Given the description of an element on the screen output the (x, y) to click on. 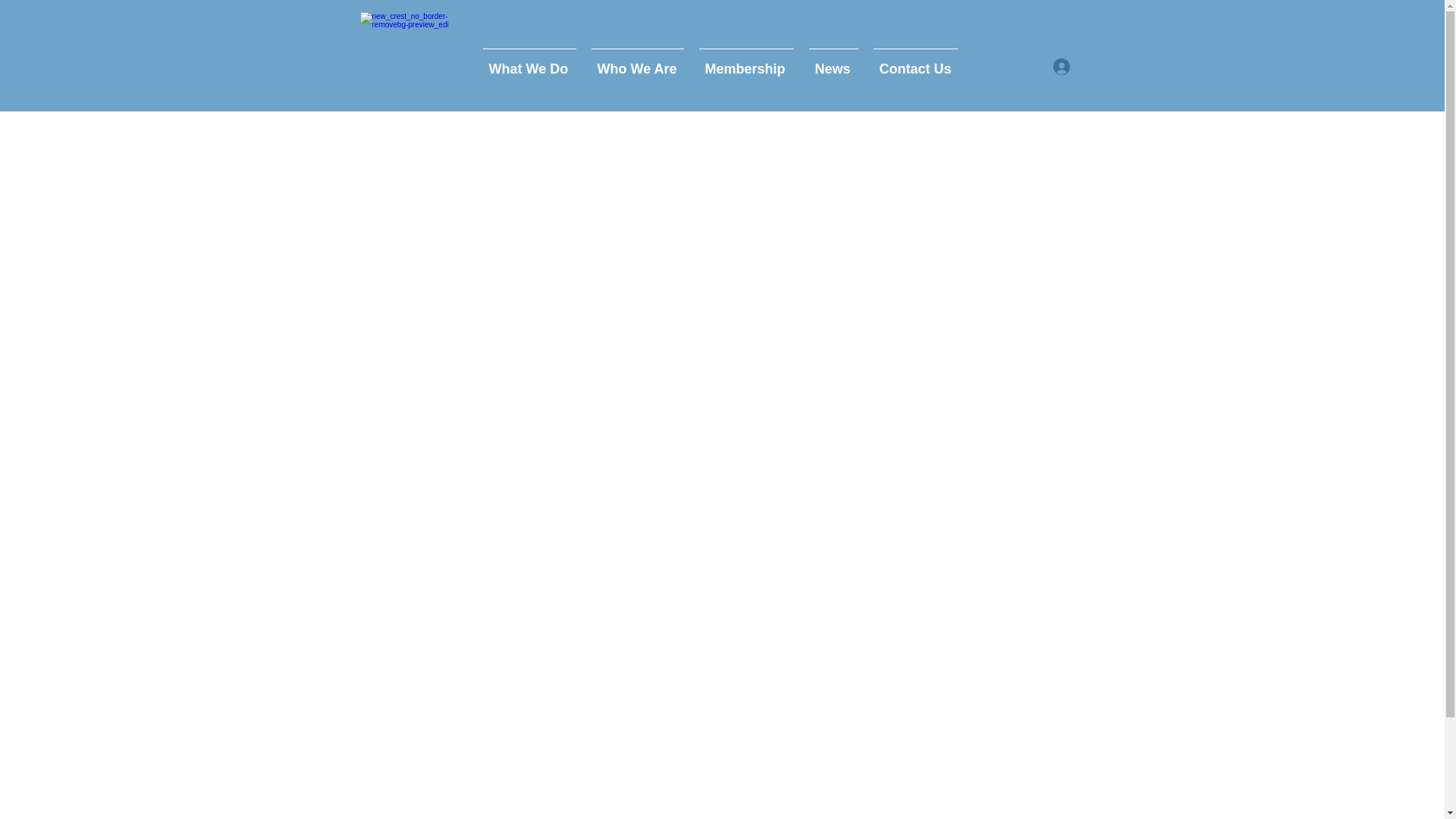
Log In (1041, 65)
Contact Us (915, 62)
Membership (746, 62)
What We Do (528, 62)
Who We Are (637, 62)
News (832, 62)
